Given the description of an element on the screen output the (x, y) to click on. 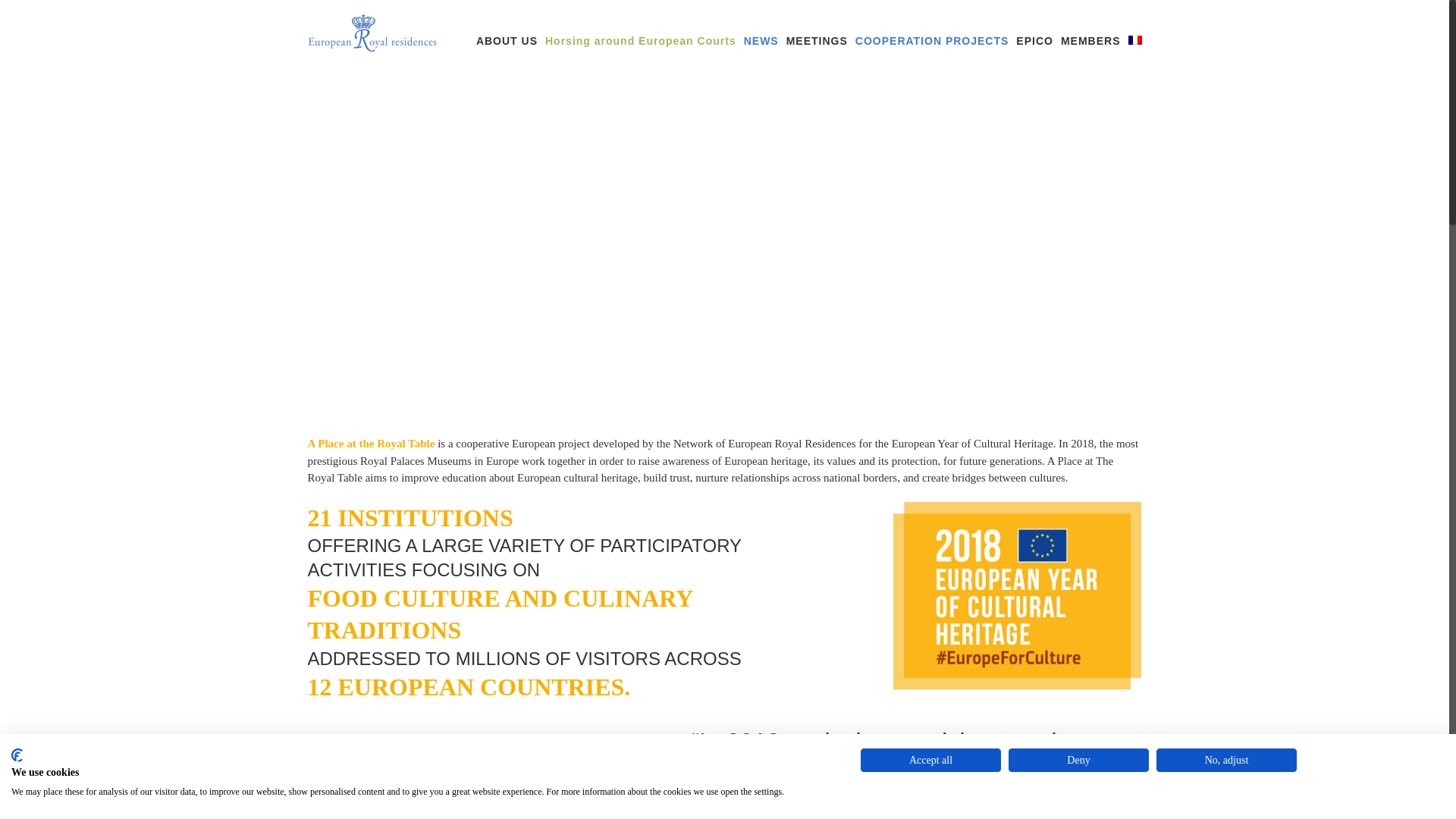
MEMBERS (1091, 31)
MEETINGS (816, 31)
COOPERATION PROJECTS (932, 31)
Horsing around European Courts (640, 31)
ABOUT US (506, 31)
EPICO (1034, 31)
NEWS (761, 31)
